Given the description of an element on the screen output the (x, y) to click on. 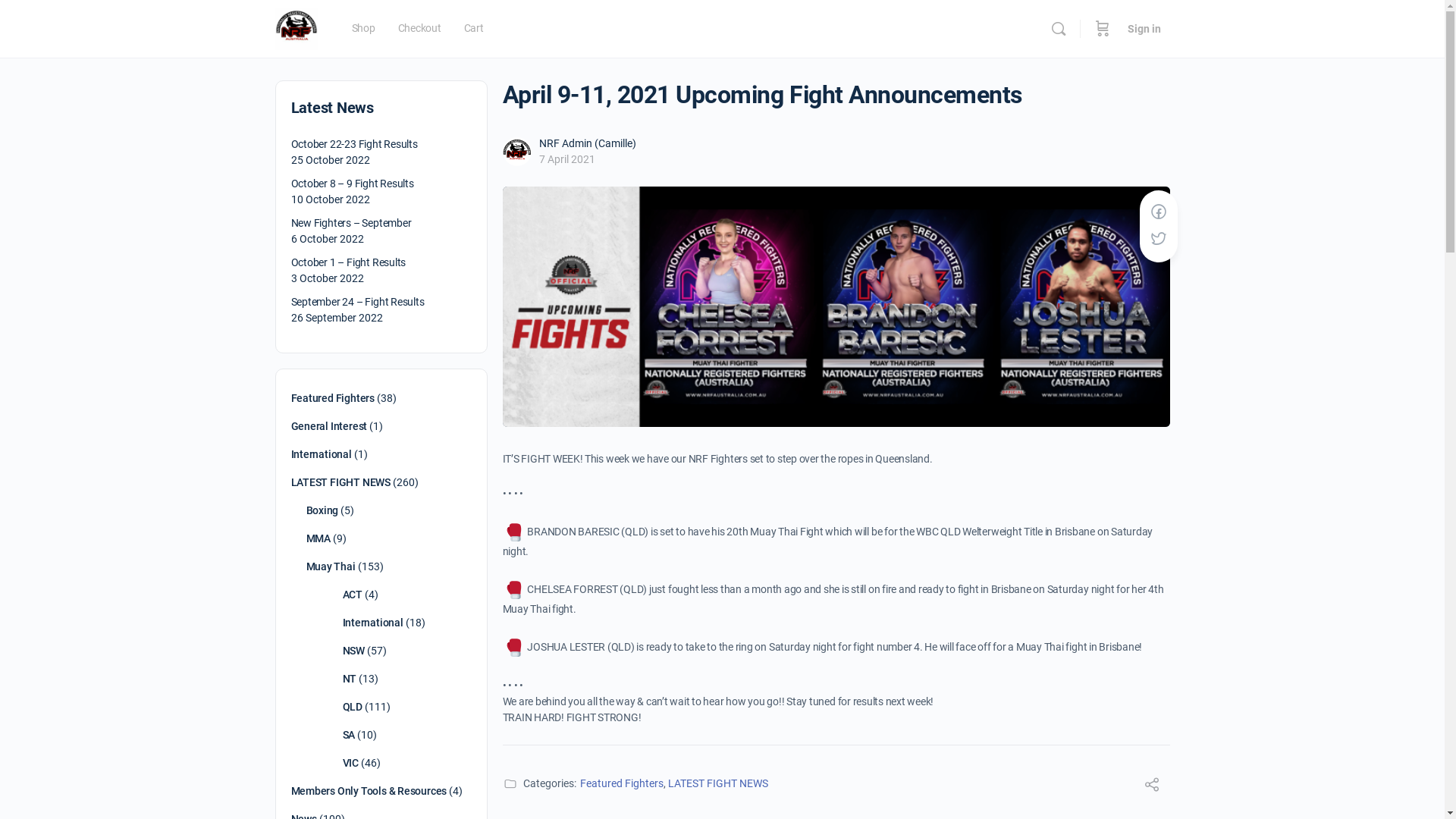
October 22-23 Fight Results Element type: text (354, 144)
SA Element type: text (348, 734)
NRF Admin (Camille) Element type: text (586, 143)
Checkout Element type: text (419, 28)
7 April 2021 Element type: text (566, 159)
Shop Element type: text (363, 28)
QLD Element type: text (352, 706)
General Interest Element type: text (329, 426)
Sign in Element type: text (1143, 28)
Members Only Tools & Resources Element type: text (369, 790)
Muay Thai Element type: text (330, 566)
Featured Fighters Element type: text (620, 783)
Boxing Element type: text (322, 510)
VIC Element type: text (350, 762)
NSW Element type: text (353, 650)
Cart Element type: text (473, 28)
Featured Fighters Element type: text (332, 398)
NT Element type: text (349, 678)
MMA Element type: text (318, 538)
ACT Element type: text (352, 594)
LATEST FIGHT NEWS Element type: text (340, 482)
International Element type: text (372, 622)
LATEST FIGHT NEWS Element type: text (717, 783)
International Element type: text (321, 454)
